Given the description of an element on the screen output the (x, y) to click on. 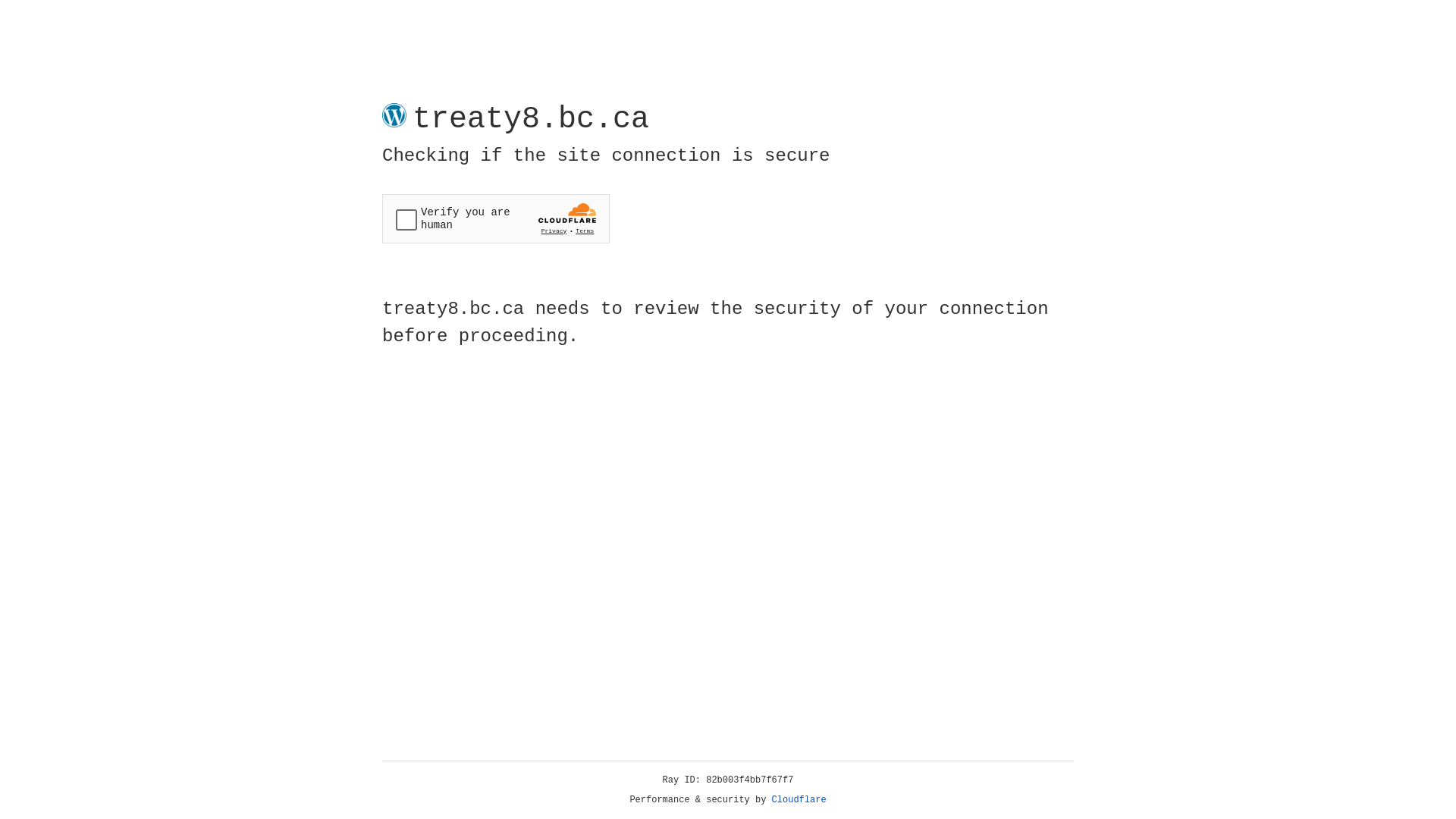
Cloudflare Element type: text (798, 799)
Widget containing a Cloudflare security challenge Element type: hover (495, 218)
